Given the description of an element on the screen output the (x, y) to click on. 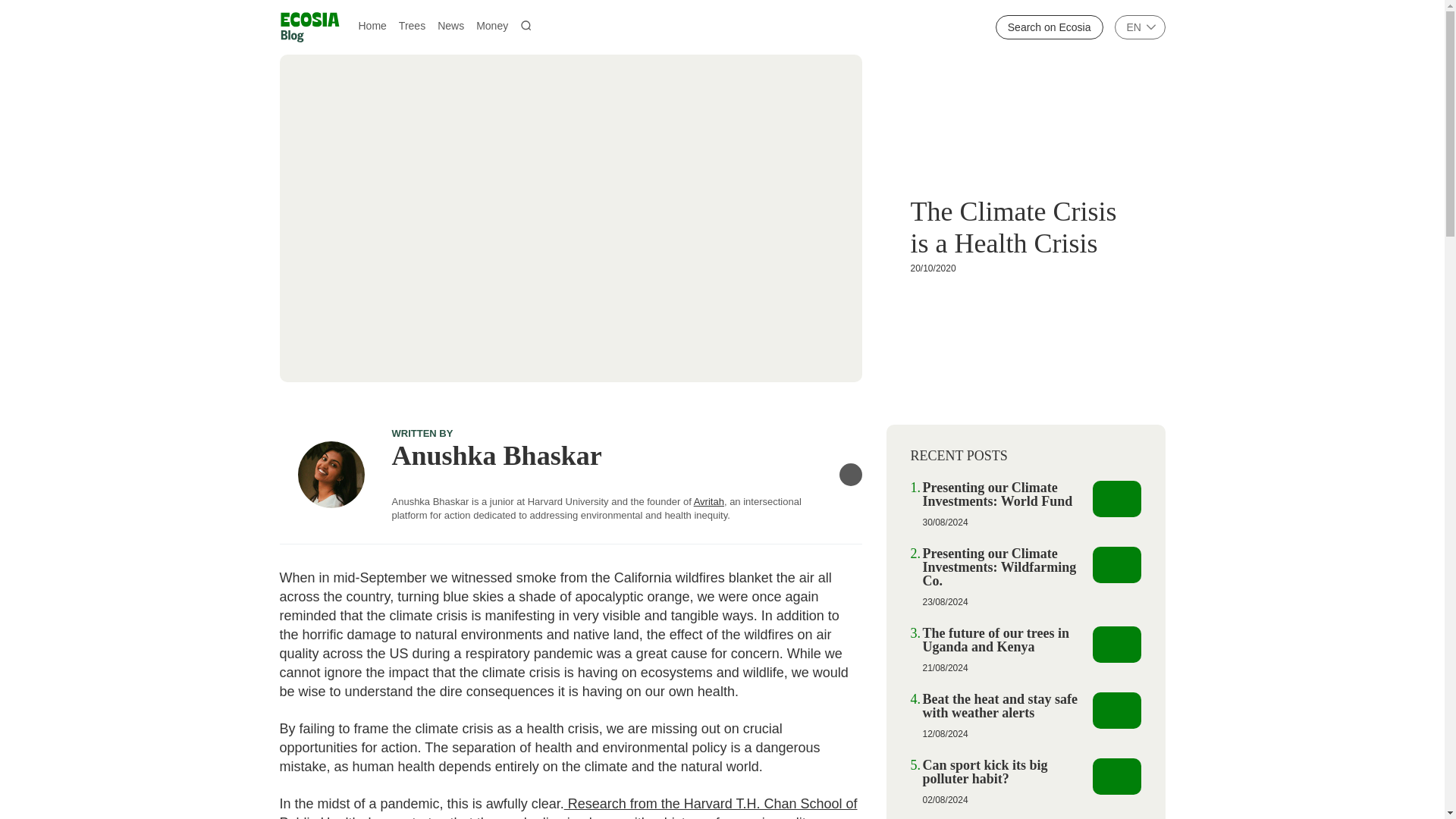
23 August 2024 (945, 602)
Home (371, 24)
30 August 2024 (945, 521)
12 August 2024 (945, 733)
Trees (411, 24)
Search on Ecosia (1049, 27)
News (451, 24)
21 August 2024 (945, 667)
Avritah (708, 501)
